Given the description of an element on the screen output the (x, y) to click on. 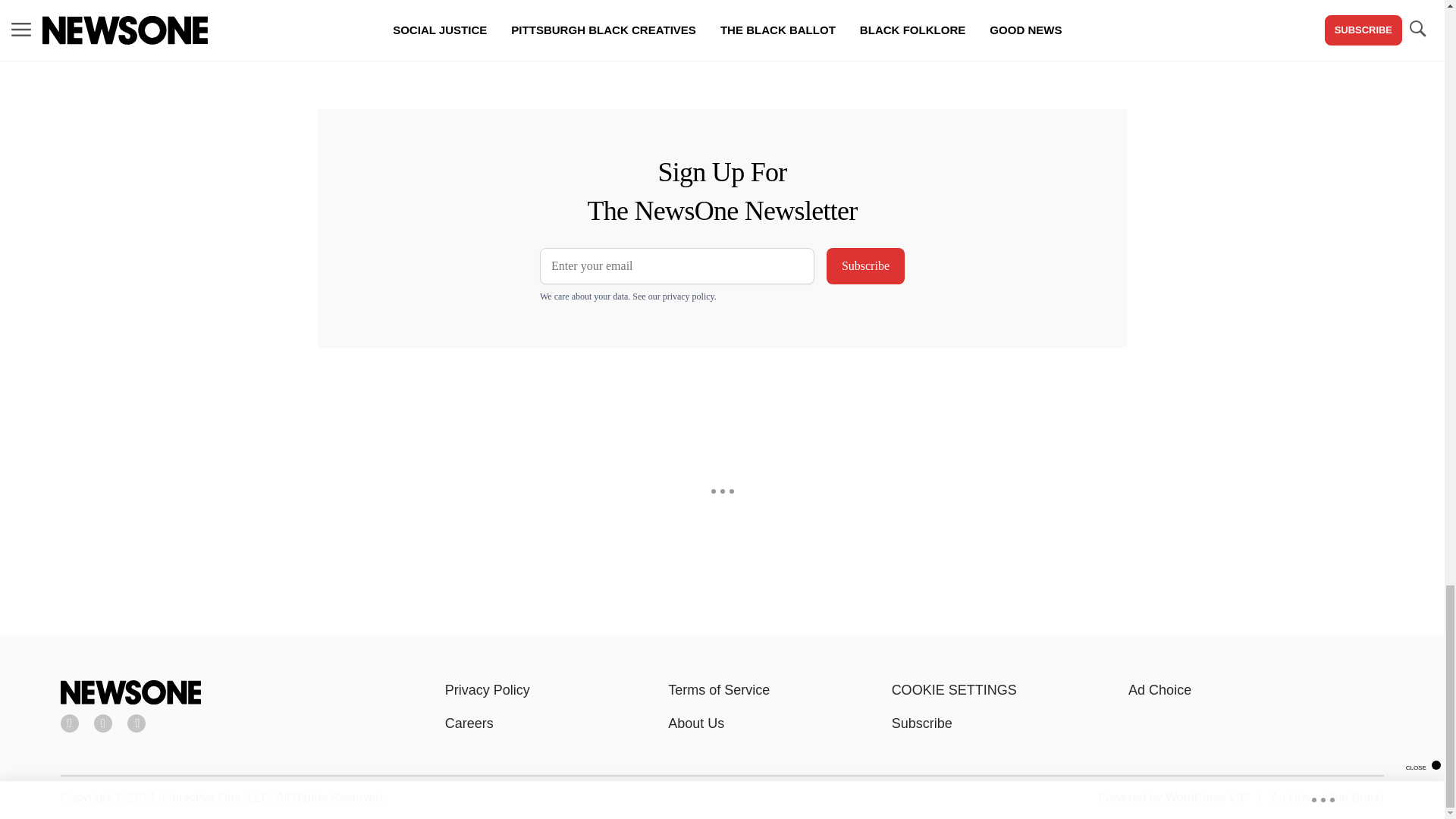
Load More (596, 38)
Load More (240, 38)
